Given the description of an element on the screen output the (x, y) to click on. 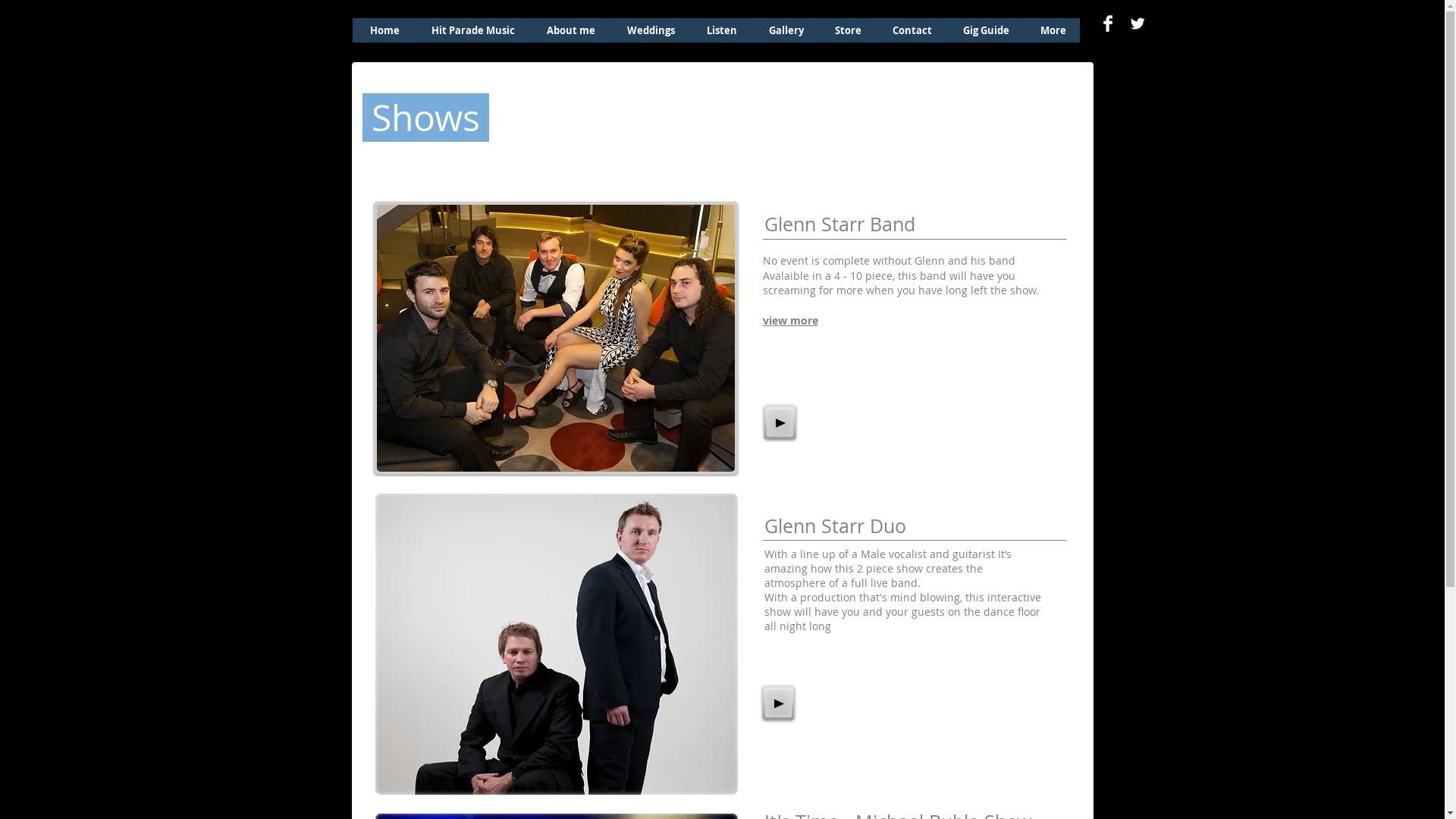
Hit Parade Music Element type: text (472, 30)
Listen Element type: text (722, 30)
Weddings Element type: text (650, 30)
Store Element type: text (847, 30)
Gig Guide Element type: text (985, 30)
Gallery Element type: text (786, 30)
About me Element type: text (570, 30)
Contact Element type: text (911, 30)
Home Element type: text (385, 30)
view more Element type: text (790, 320)
